Given the description of an element on the screen output the (x, y) to click on. 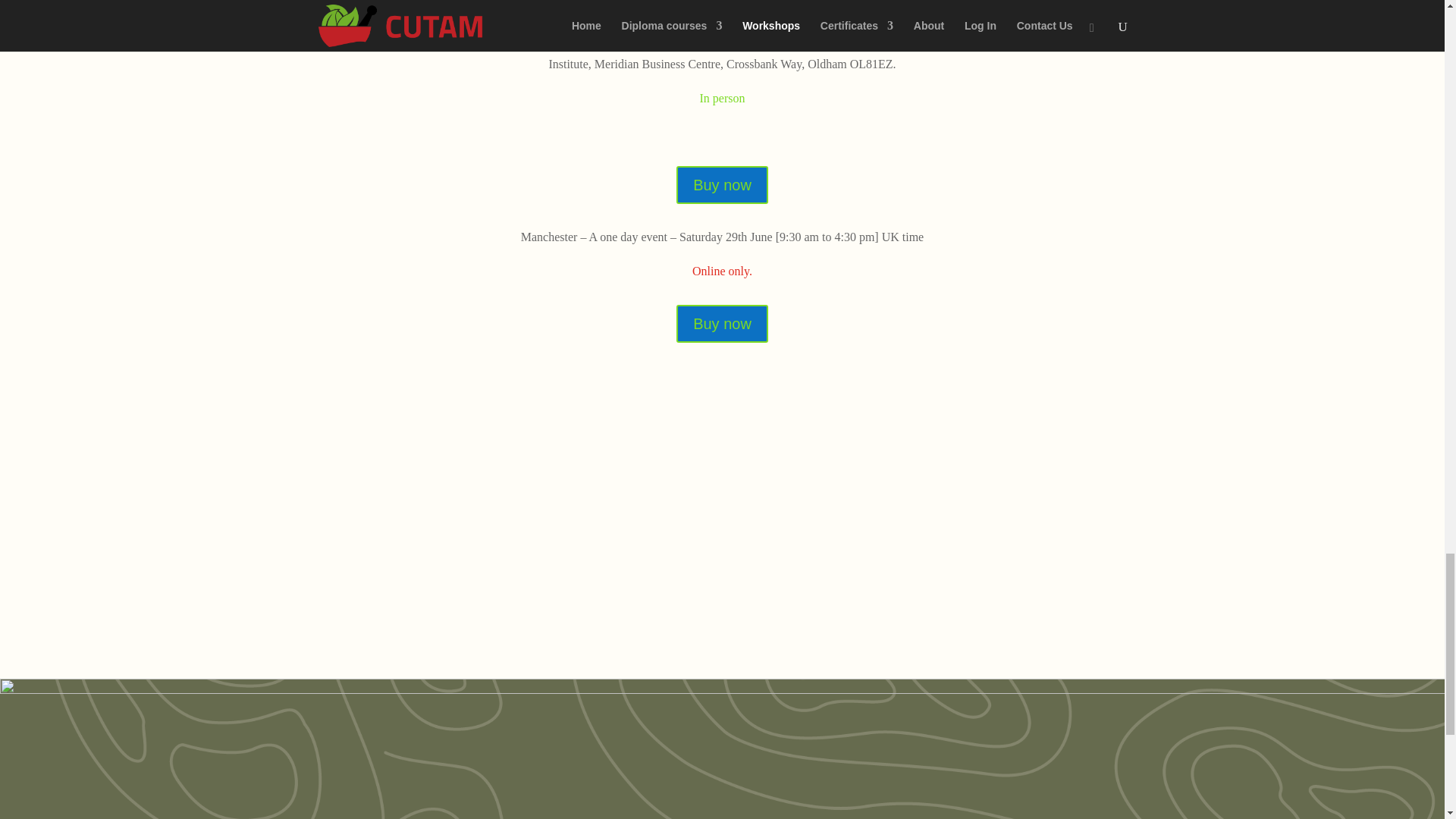
divider (722, 6)
Buy now (722, 184)
Buy now (722, 323)
